Given the description of an element on the screen output the (x, y) to click on. 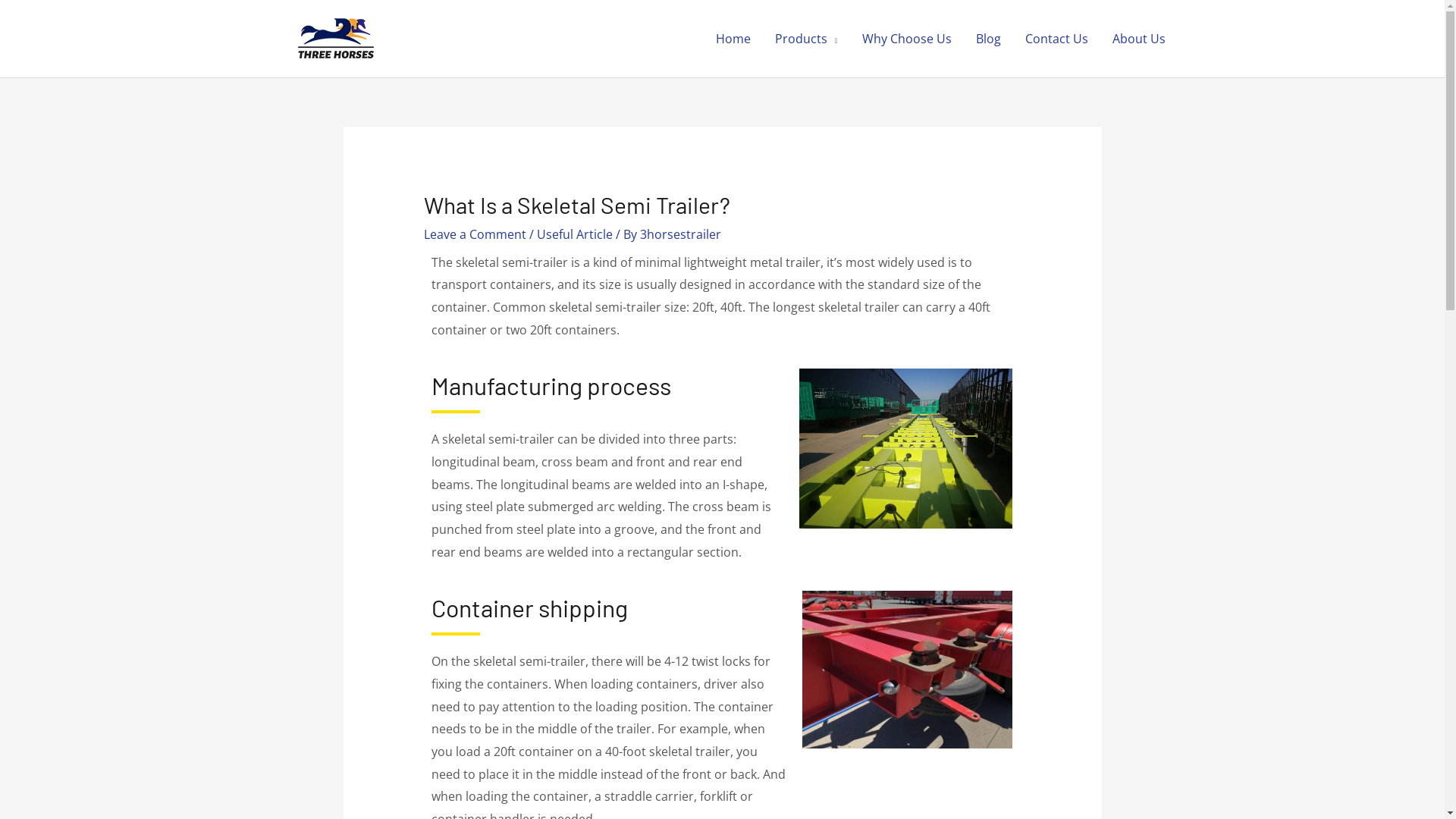
Blog Element type: text (987, 38)
3horsestrailer Element type: text (680, 233)
Useful Article Element type: text (574, 233)
Home Element type: text (732, 38)
About Us Element type: text (1137, 38)
Products Element type: text (806, 38)
Why Choose Us Element type: text (906, 38)
Leave a Comment Element type: text (474, 233)
Contact Us Element type: text (1056, 38)
